Given the description of an element on the screen output the (x, y) to click on. 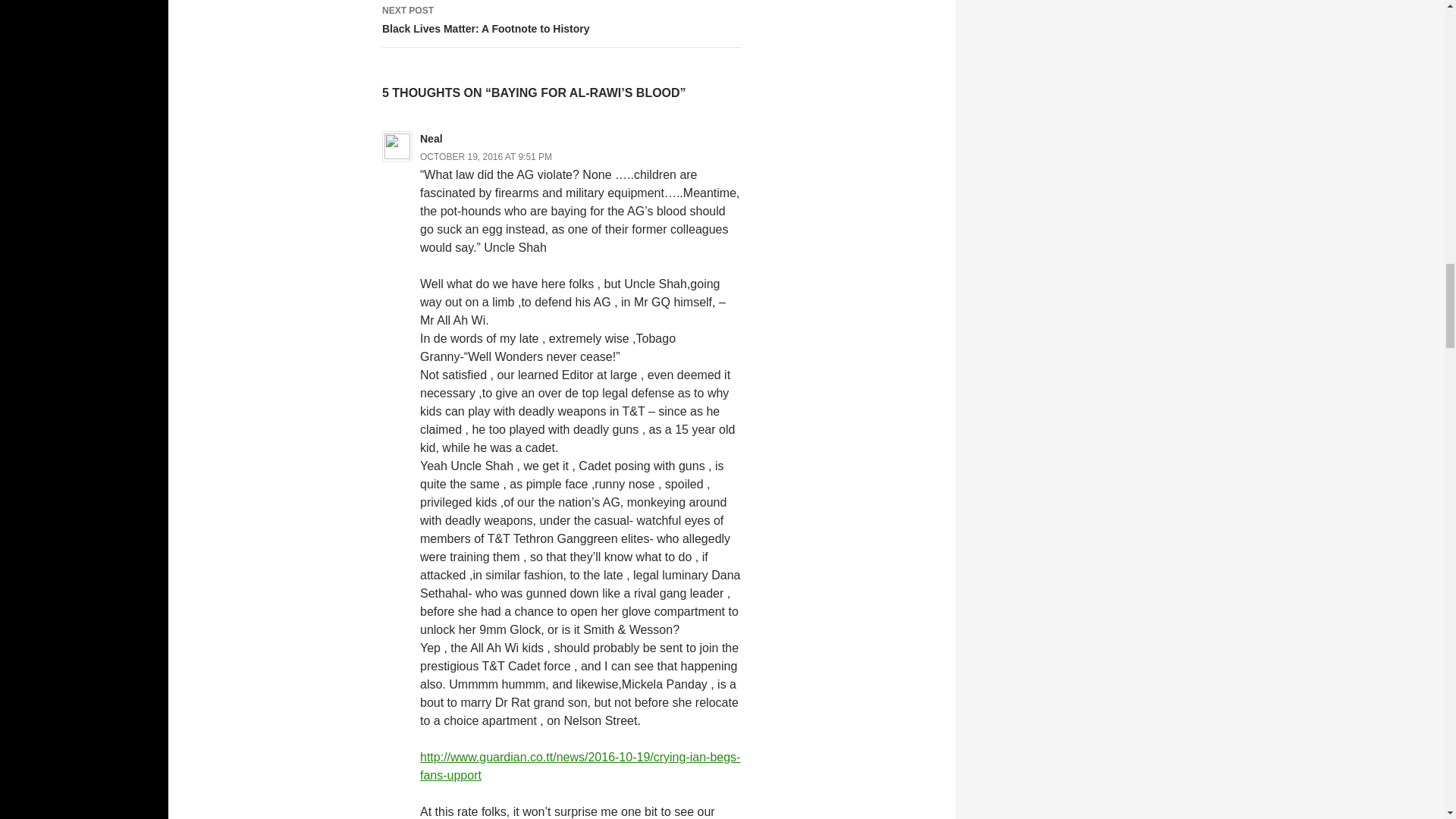
OCTOBER 19, 2016 AT 9:51 PM (561, 23)
